Given the description of an element on the screen output the (x, y) to click on. 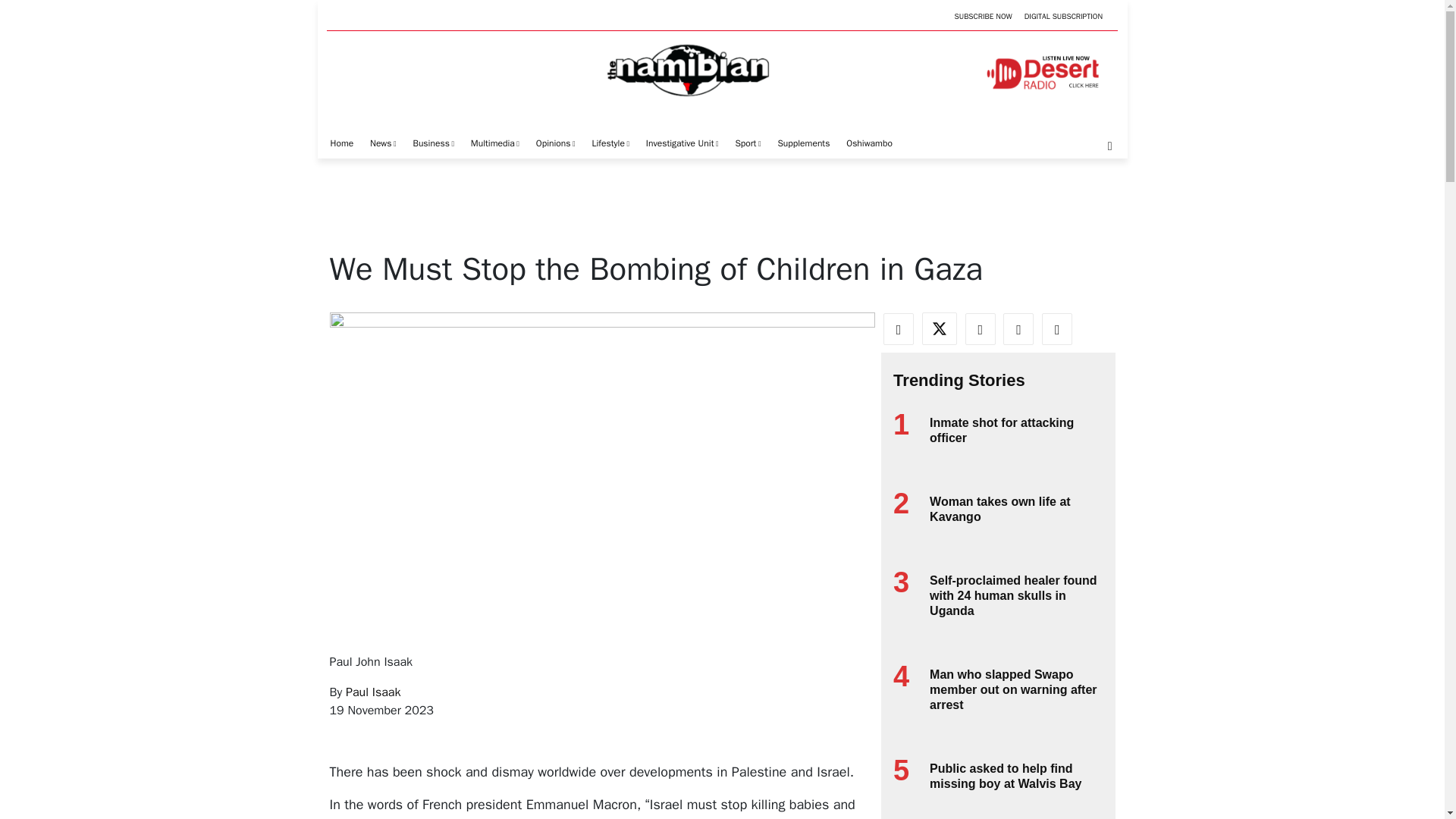
Posts by Paul Isaak (373, 692)
DIGITAL SUBSCRIPTION (1062, 16)
Business (433, 143)
Multimedia (494, 143)
SUBSCRIBE NOW (983, 16)
Opinions (555, 143)
News (383, 143)
Home (341, 143)
